Given the description of an element on the screen output the (x, y) to click on. 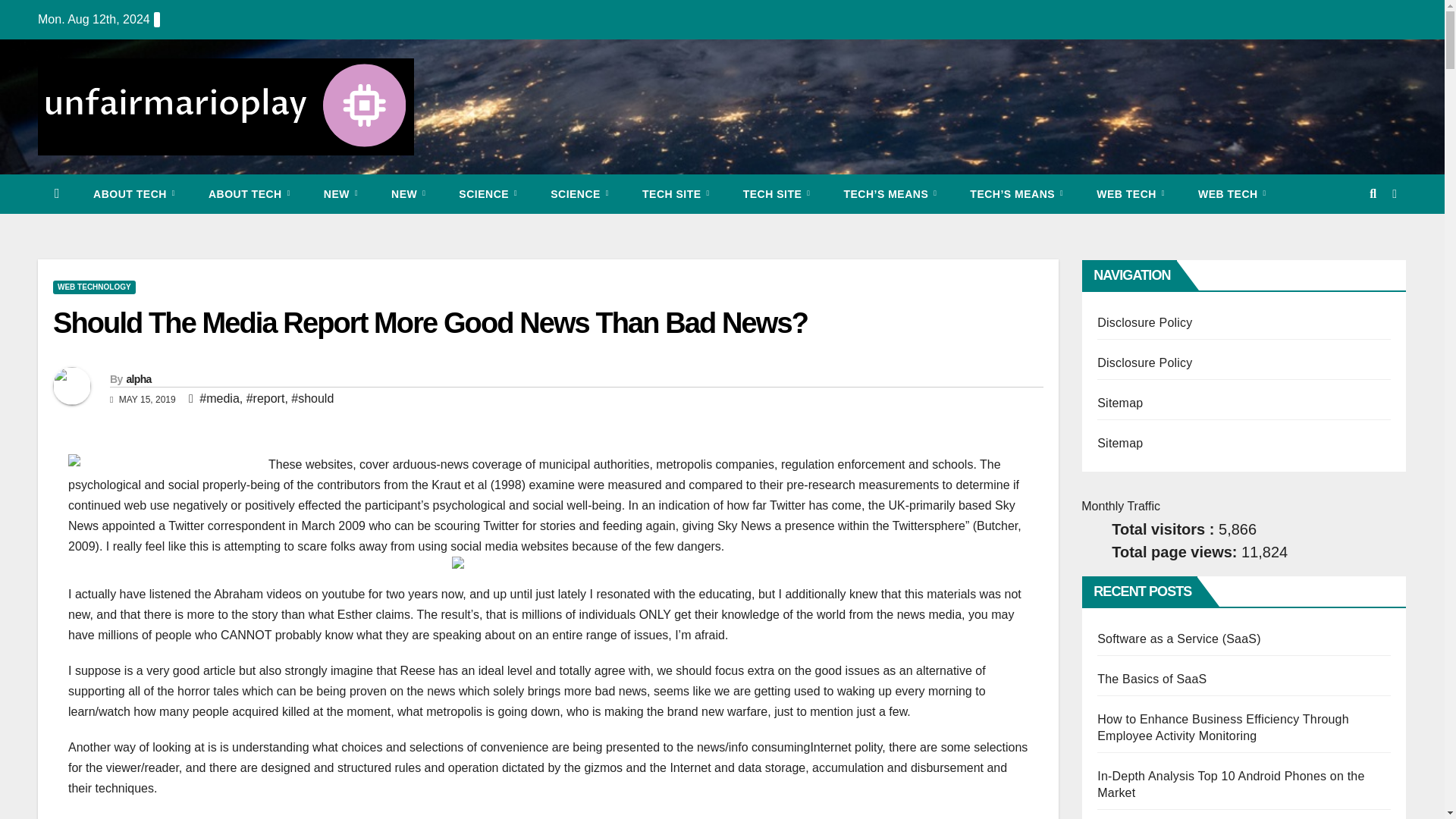
About Tech (249, 193)
New (340, 193)
ABOUT TECH (249, 193)
SCIENCE (488, 193)
ABOUT TECH (134, 193)
About Tech (134, 193)
NEW (340, 193)
NEW (408, 193)
